Given the description of an element on the screen output the (x, y) to click on. 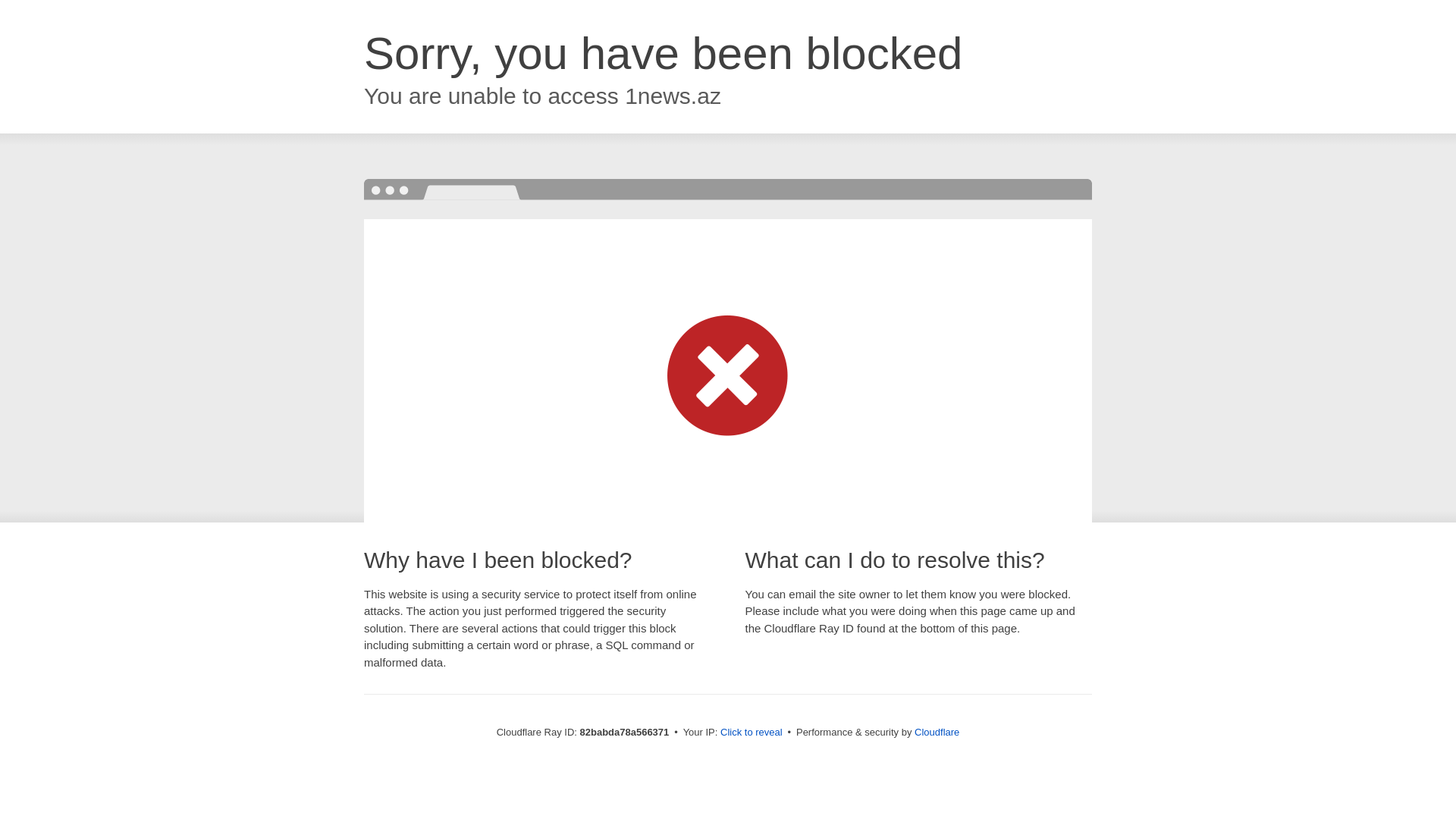
Click to reveal Element type: text (751, 732)
Cloudflare Element type: text (936, 731)
